Given the description of an element on the screen output the (x, y) to click on. 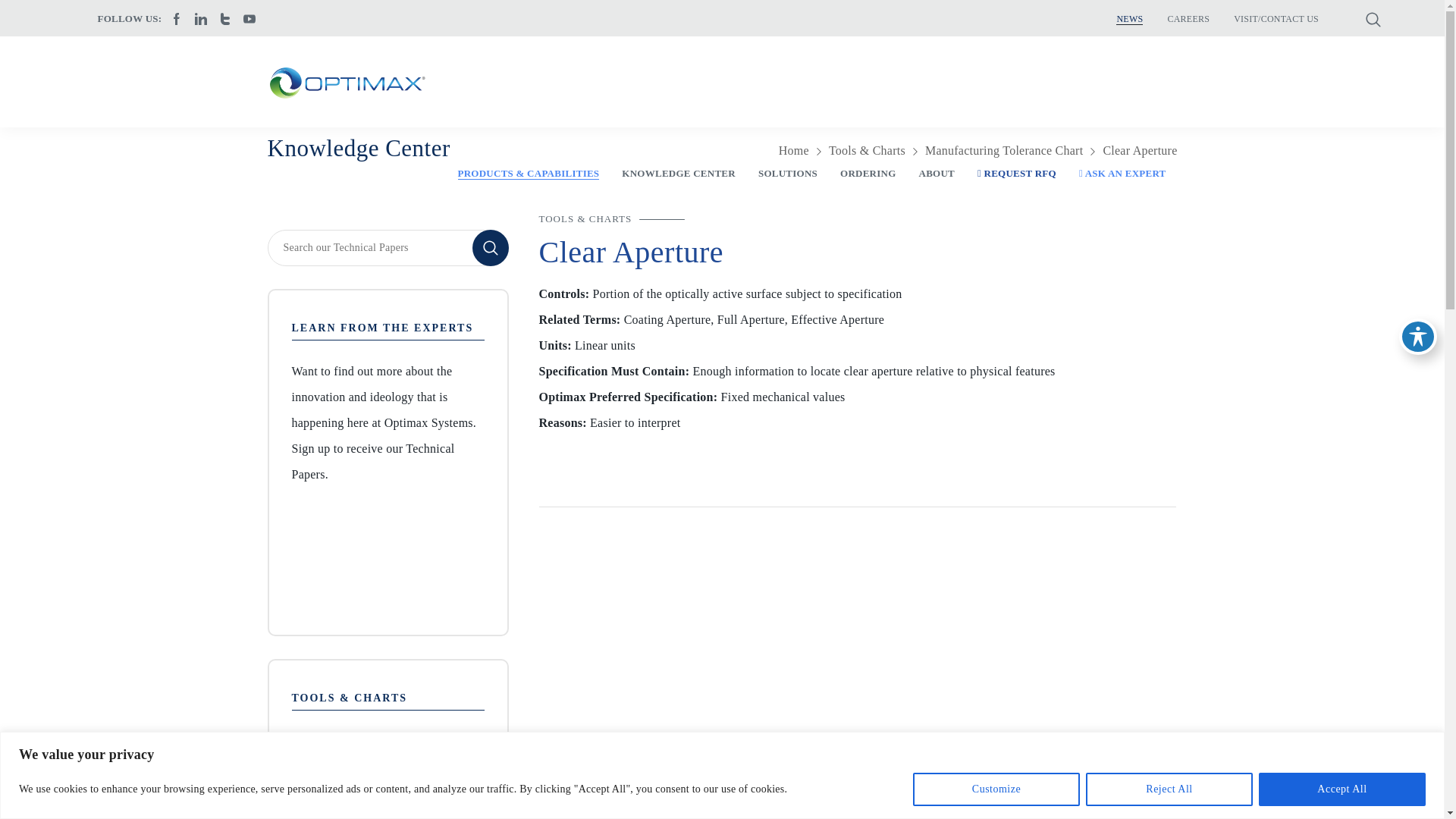
Form 0 (387, 555)
twitter (224, 18)
Customize (996, 788)
facebook (176, 18)
linkedin (200, 18)
Optimax Systems, Inc (346, 81)
Reject All (1169, 788)
Search (489, 248)
youtube (249, 18)
Accept All (1342, 788)
